Given the description of an element on the screen output the (x, y) to click on. 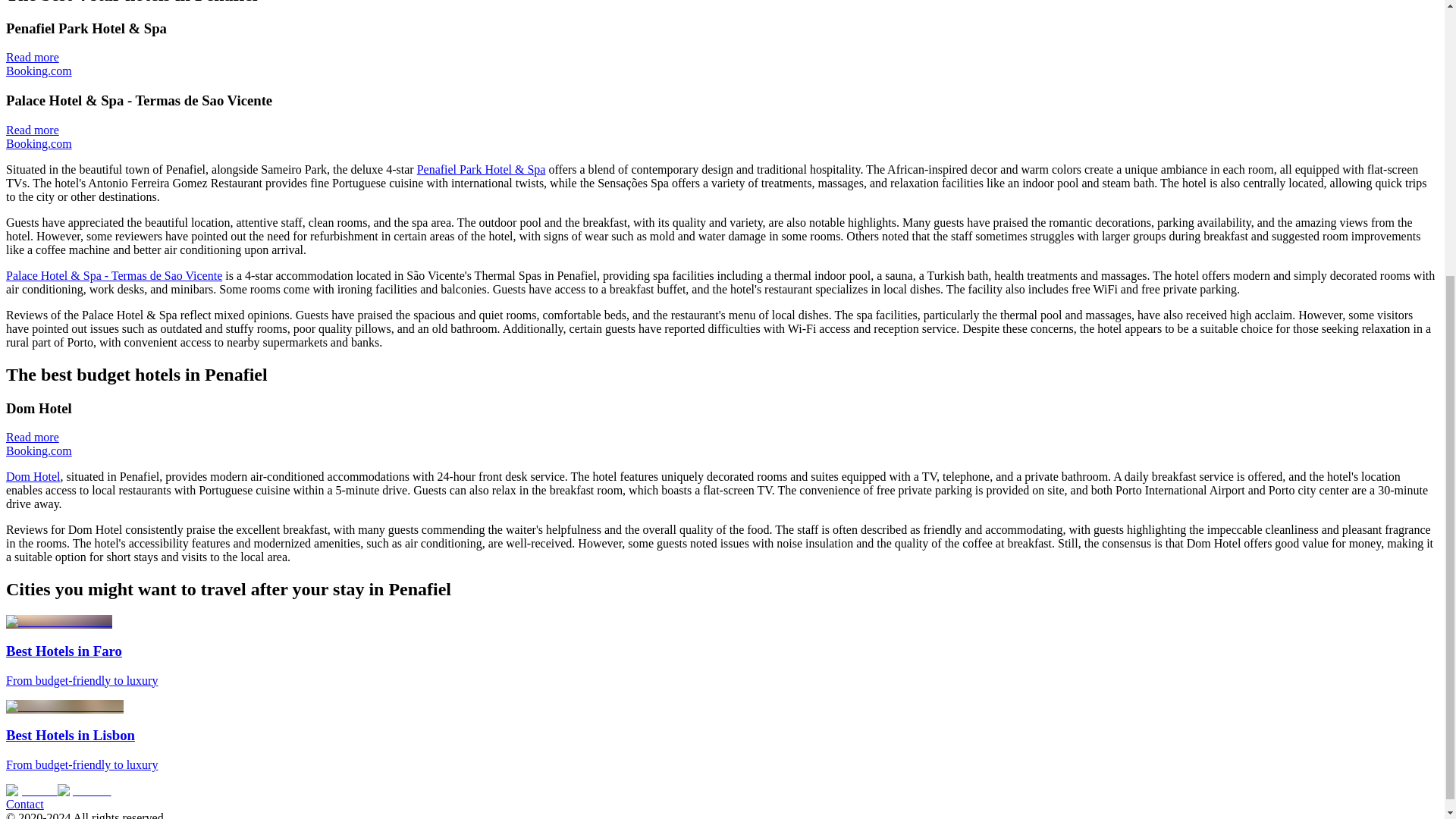
Booking.com (38, 70)
Dom Hotel (33, 476)
Booking.com (38, 450)
Read more (32, 436)
Read more (32, 56)
Booking.com (38, 143)
Read more (32, 129)
Contact (24, 803)
